Given the description of an element on the screen output the (x, y) to click on. 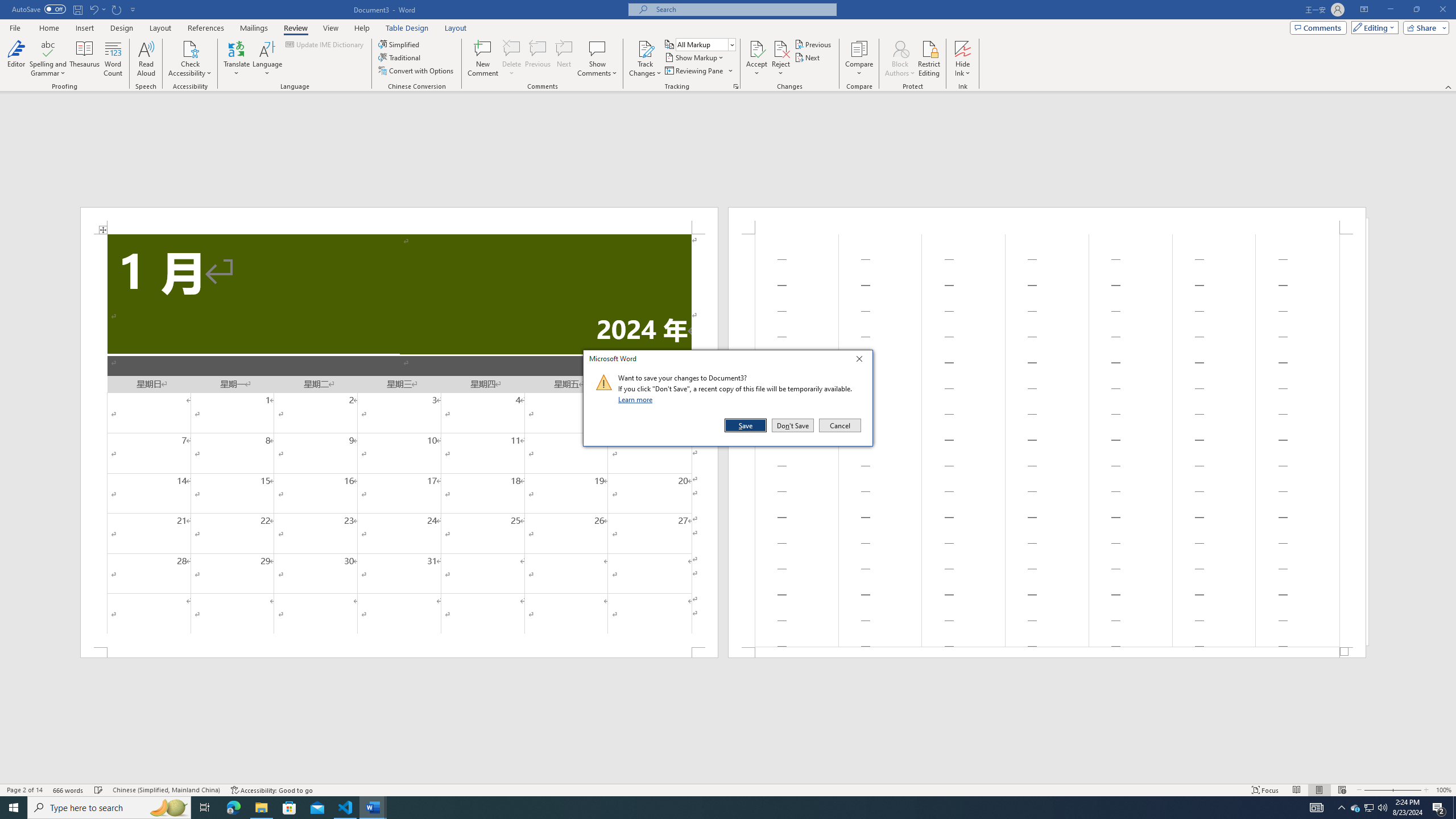
Block Authors (900, 48)
Visual Studio Code - 1 running window (345, 807)
Word - 2 running windows (373, 807)
Page Number Page 2 of 14 (24, 790)
Reject and Move to Next (780, 48)
Undo Apply Quick Style (96, 9)
Search highlights icon opens search home window (167, 807)
